Given the description of an element on the screen output the (x, y) to click on. 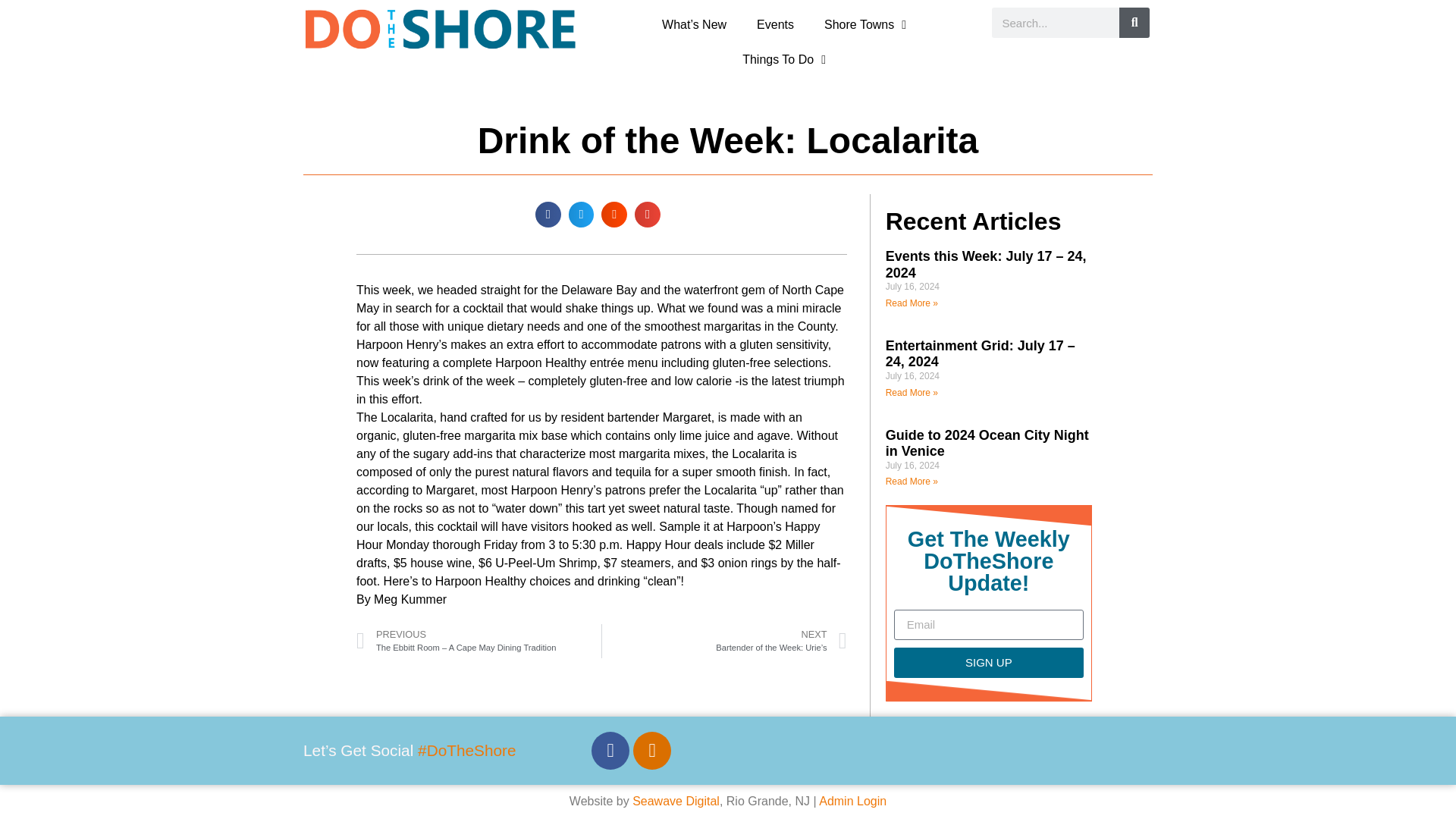
Shore Towns (865, 24)
Things To Do (783, 59)
Events (775, 24)
